Given the description of an element on the screen output the (x, y) to click on. 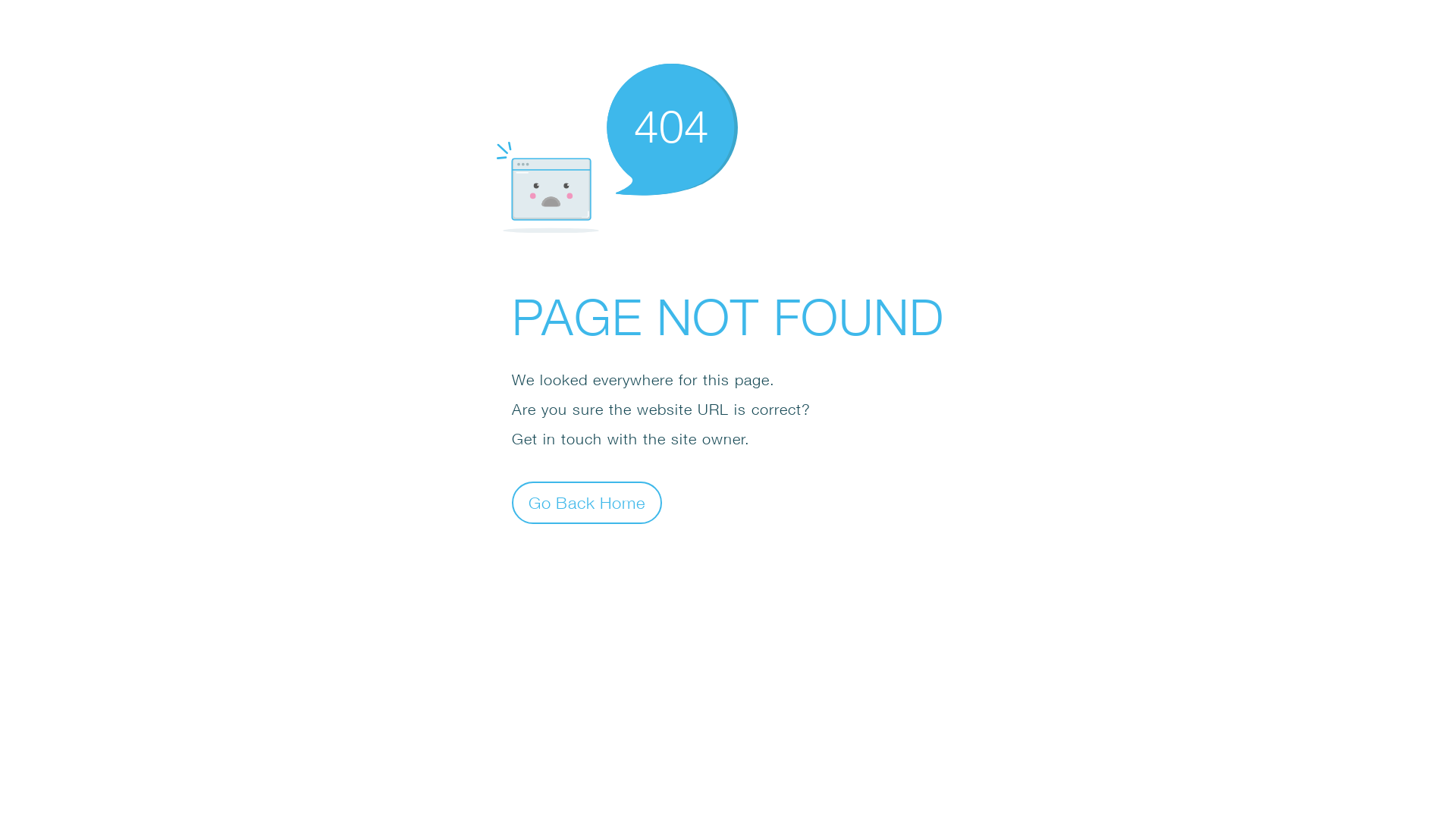
Go Back Home Element type: text (586, 502)
